Given the description of an element on the screen output the (x, y) to click on. 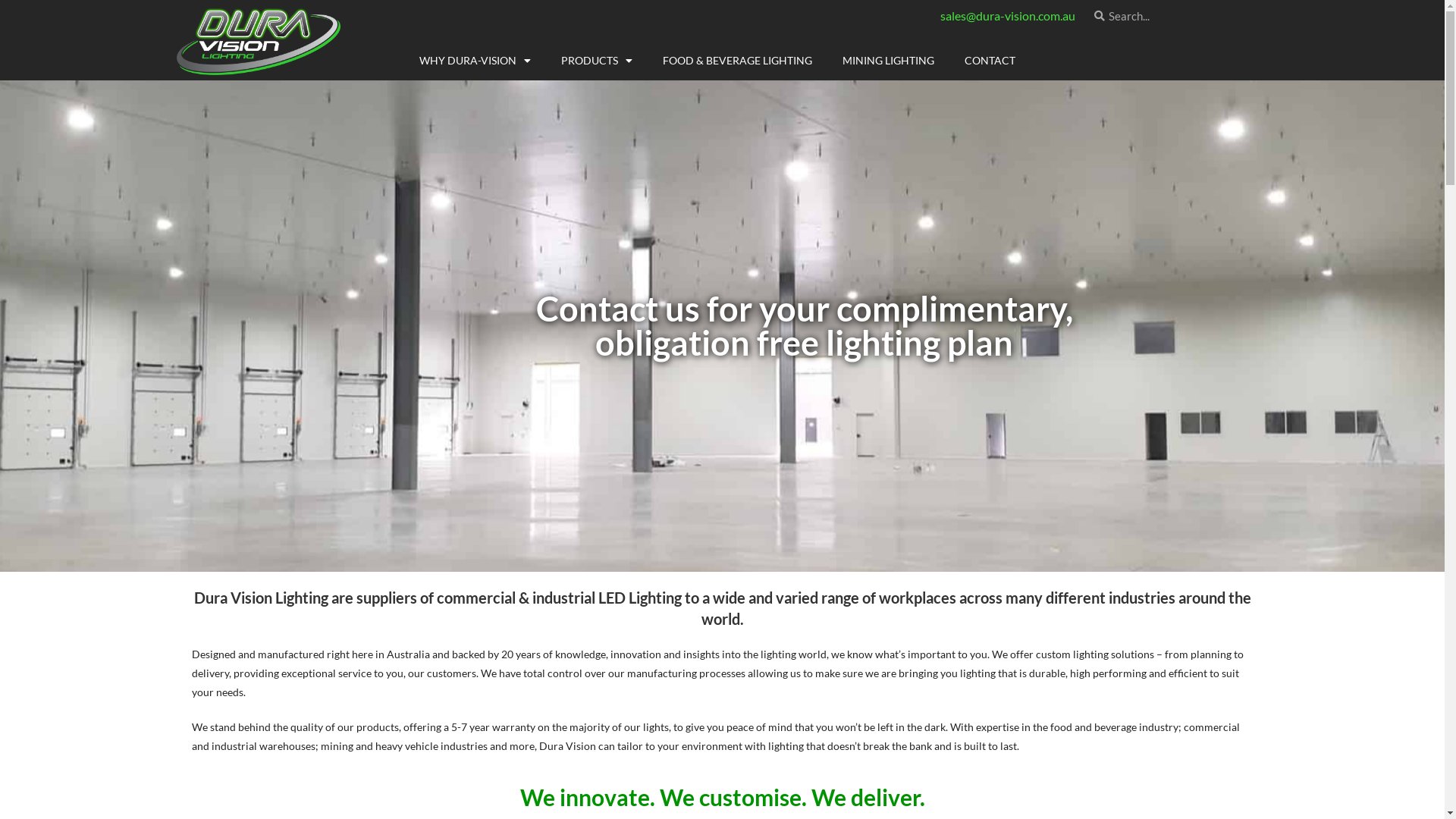
FOOD & BEVERAGE LIGHTING Element type: text (737, 60)
PRODUCTS Element type: text (596, 60)
Search Element type: hover (1181, 15)
sales@dura-vision.com.au Element type: text (1007, 15)
CONTACT Element type: text (989, 60)
MINING LIGHTING Element type: text (888, 60)
WHY DURA-VISION Element type: text (475, 60)
